Given the description of an element on the screen output the (x, y) to click on. 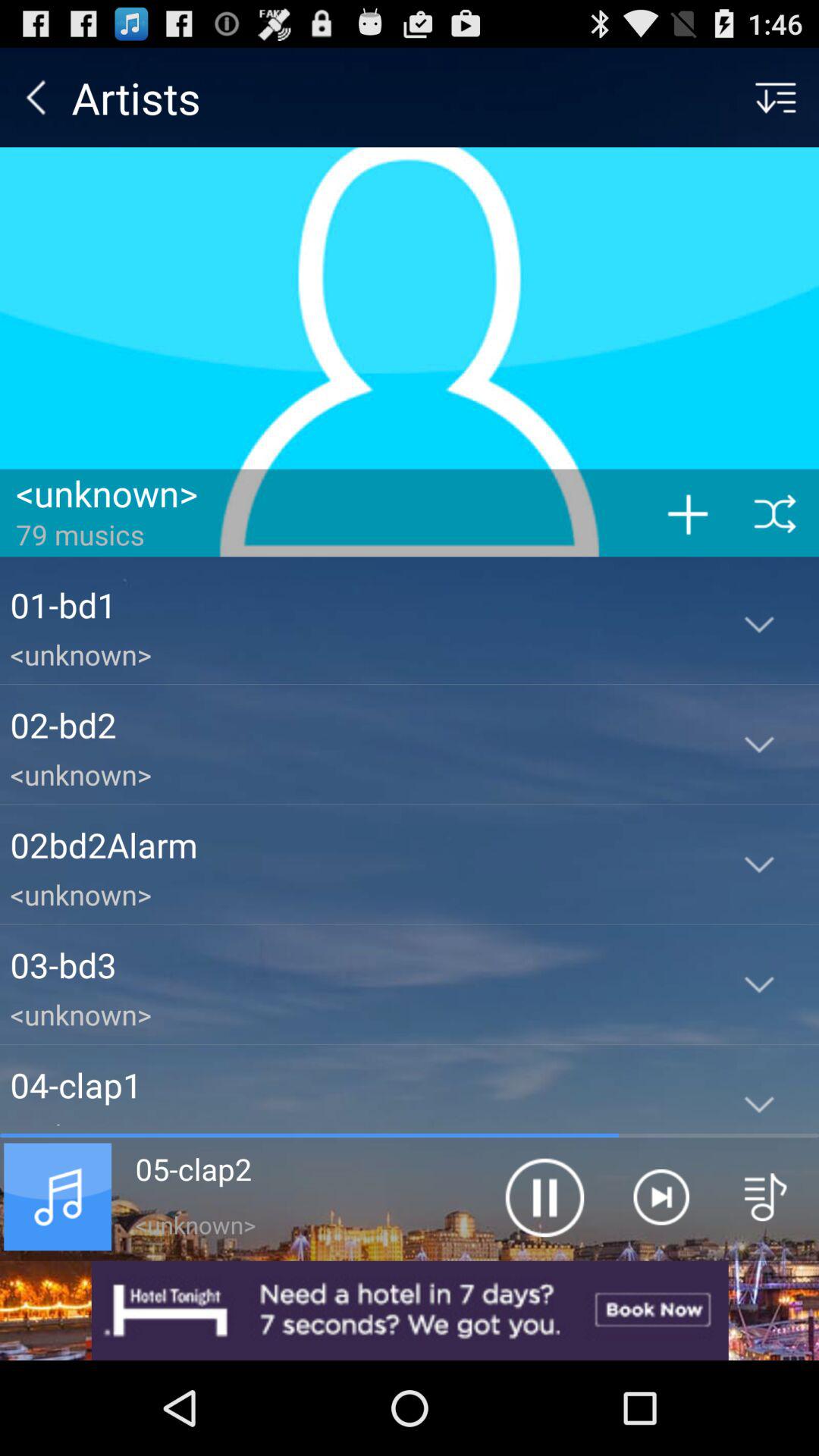
select the 03-bd3 item (354, 964)
